Given the description of an element on the screen output the (x, y) to click on. 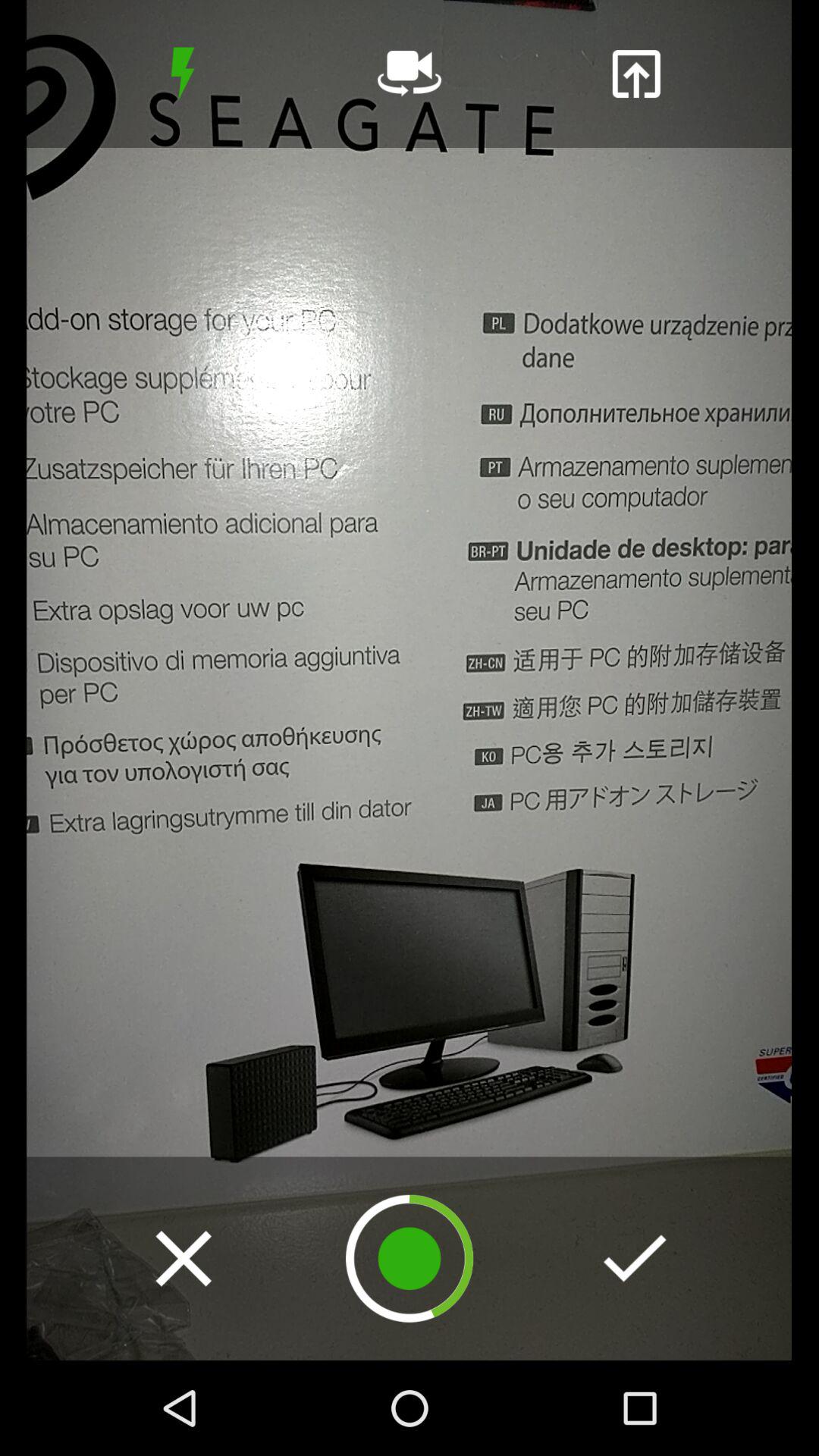
take picture (409, 1258)
